Given the description of an element on the screen output the (x, y) to click on. 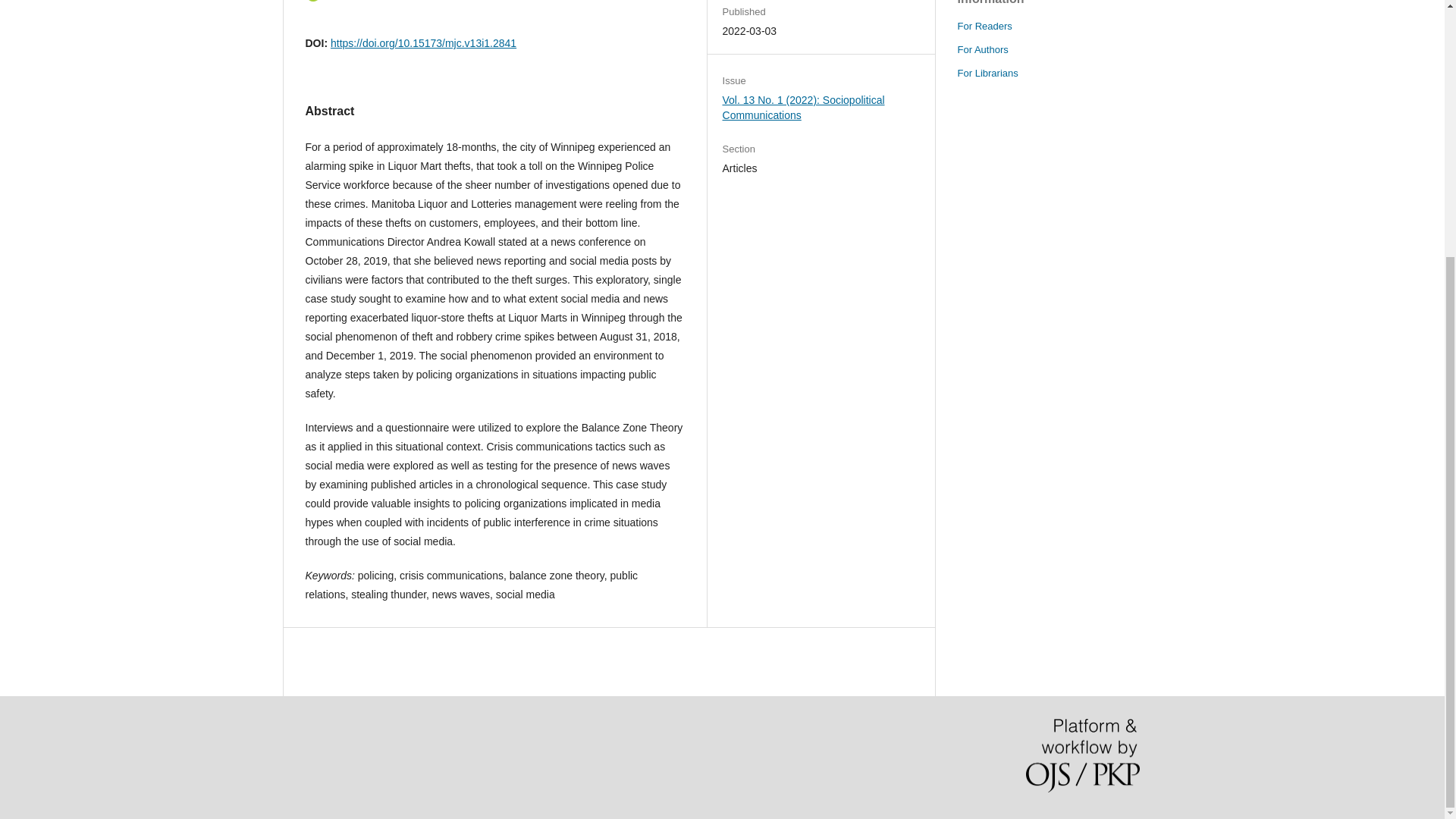
For Librarians (986, 72)
For Authors (981, 49)
For Readers (983, 25)
